Given the description of an element on the screen output the (x, y) to click on. 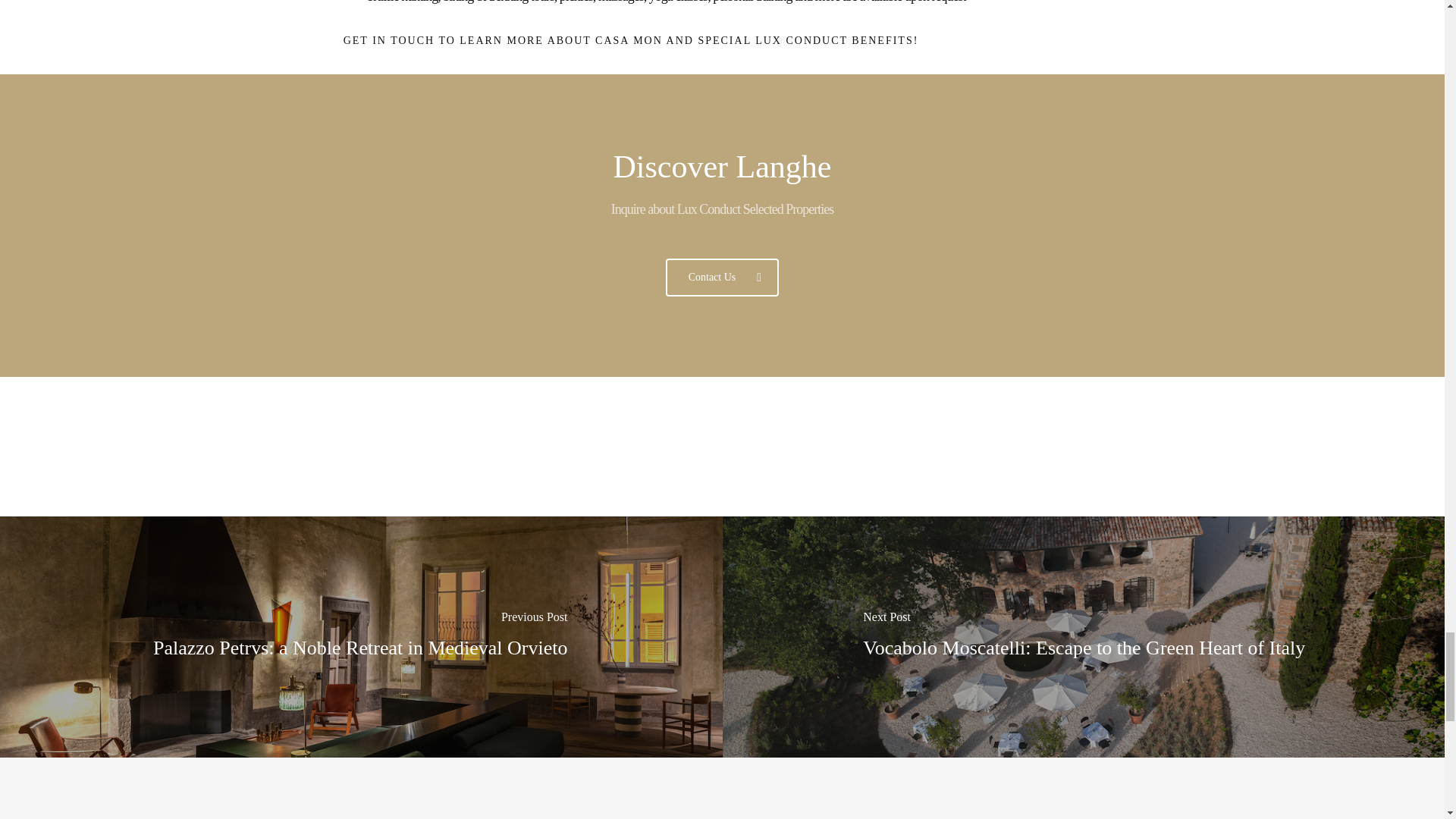
Contact Us (721, 277)
